Given the description of an element on the screen output the (x, y) to click on. 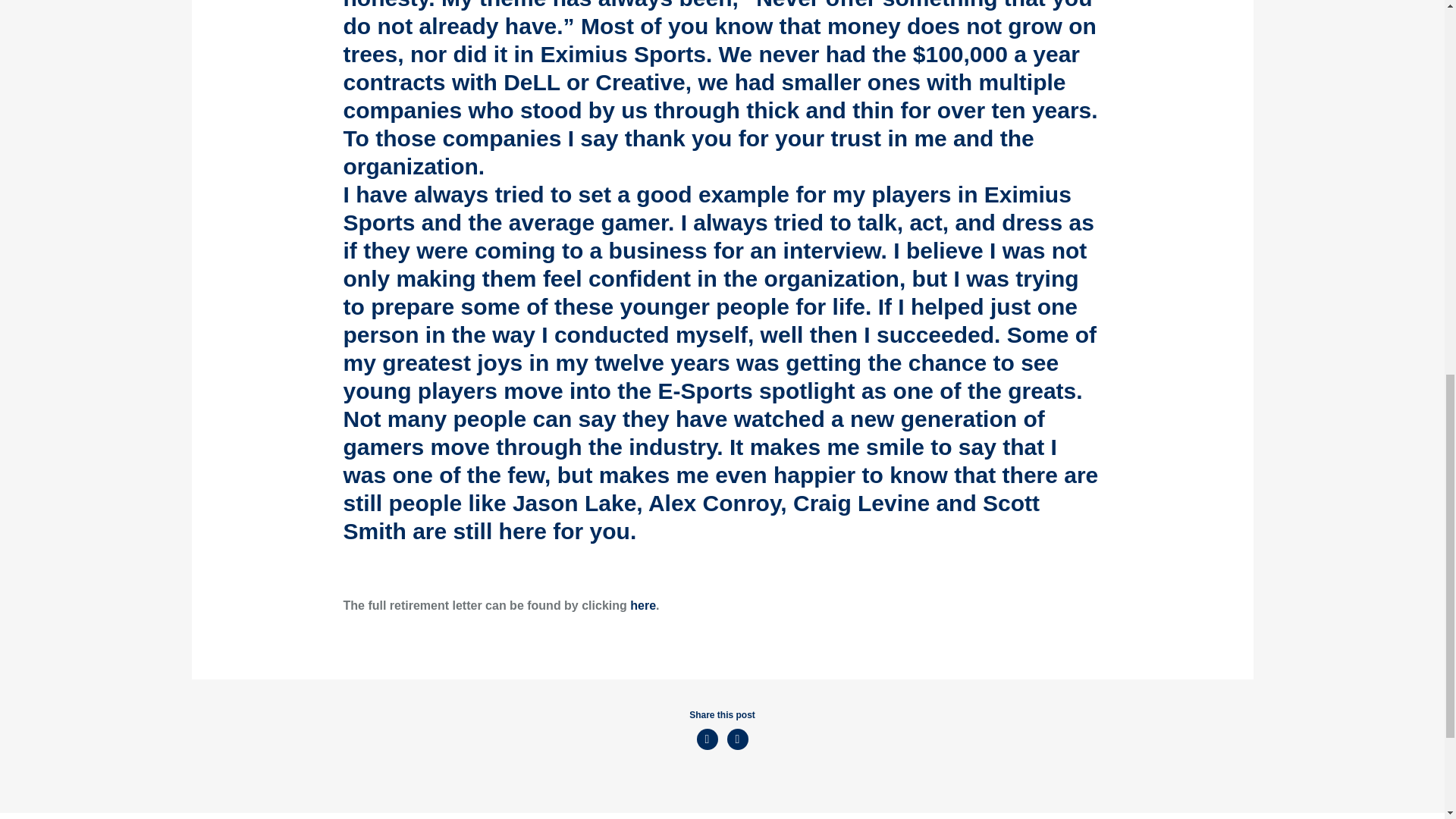
Facebook (737, 739)
here (643, 604)
Twitter (706, 739)
